Given the description of an element on the screen output the (x, y) to click on. 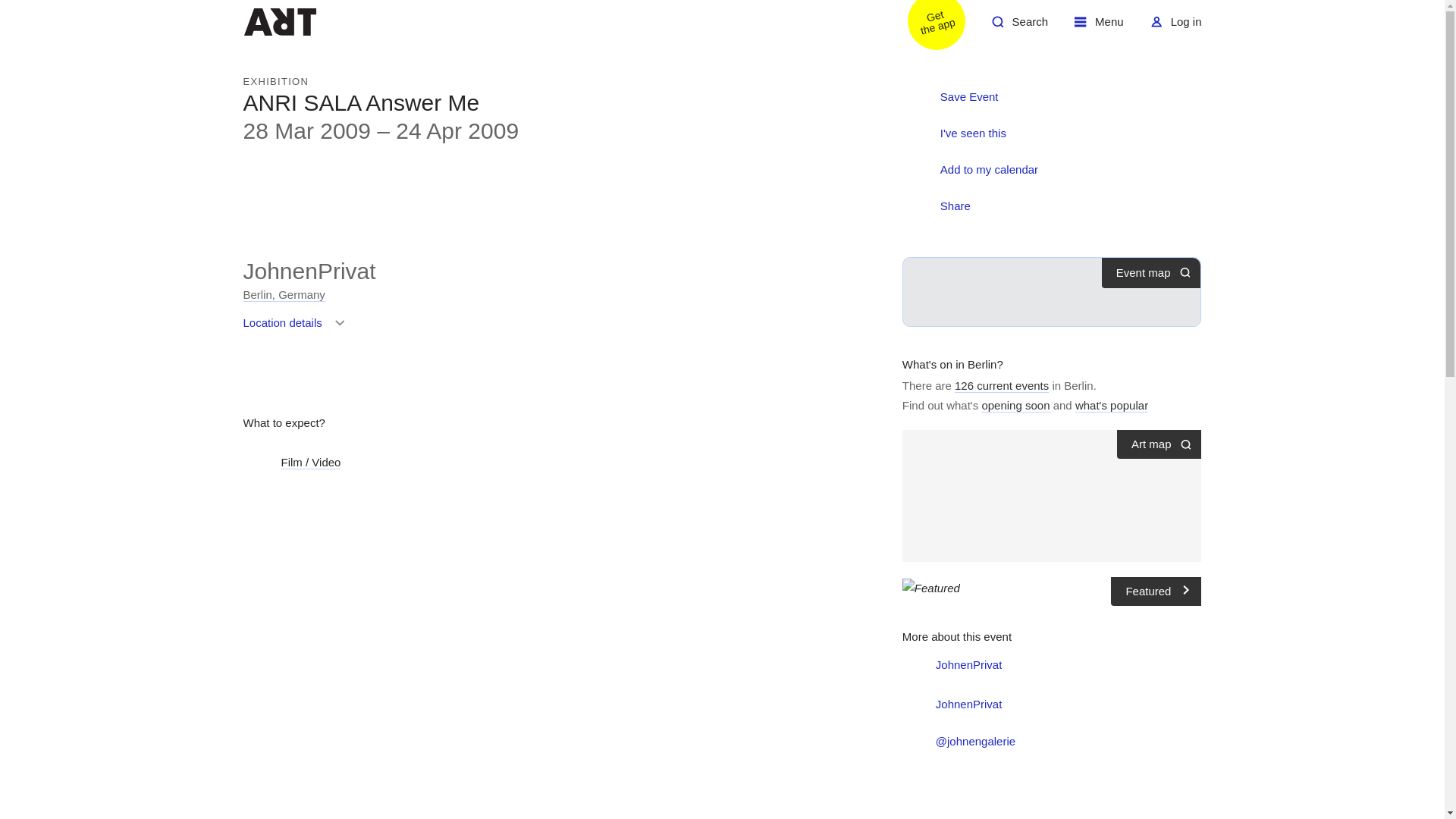
Berlin, Germany (1099, 26)
what's popular (1176, 26)
Add to my calendar (283, 295)
Welcome to ArtRabbit (1111, 405)
Share (972, 169)
JohnenPrivat (279, 22)
What's on in Berlin? (938, 207)
126 current events (1019, 26)
opening soon (309, 270)
